Given the description of an element on the screen output the (x, y) to click on. 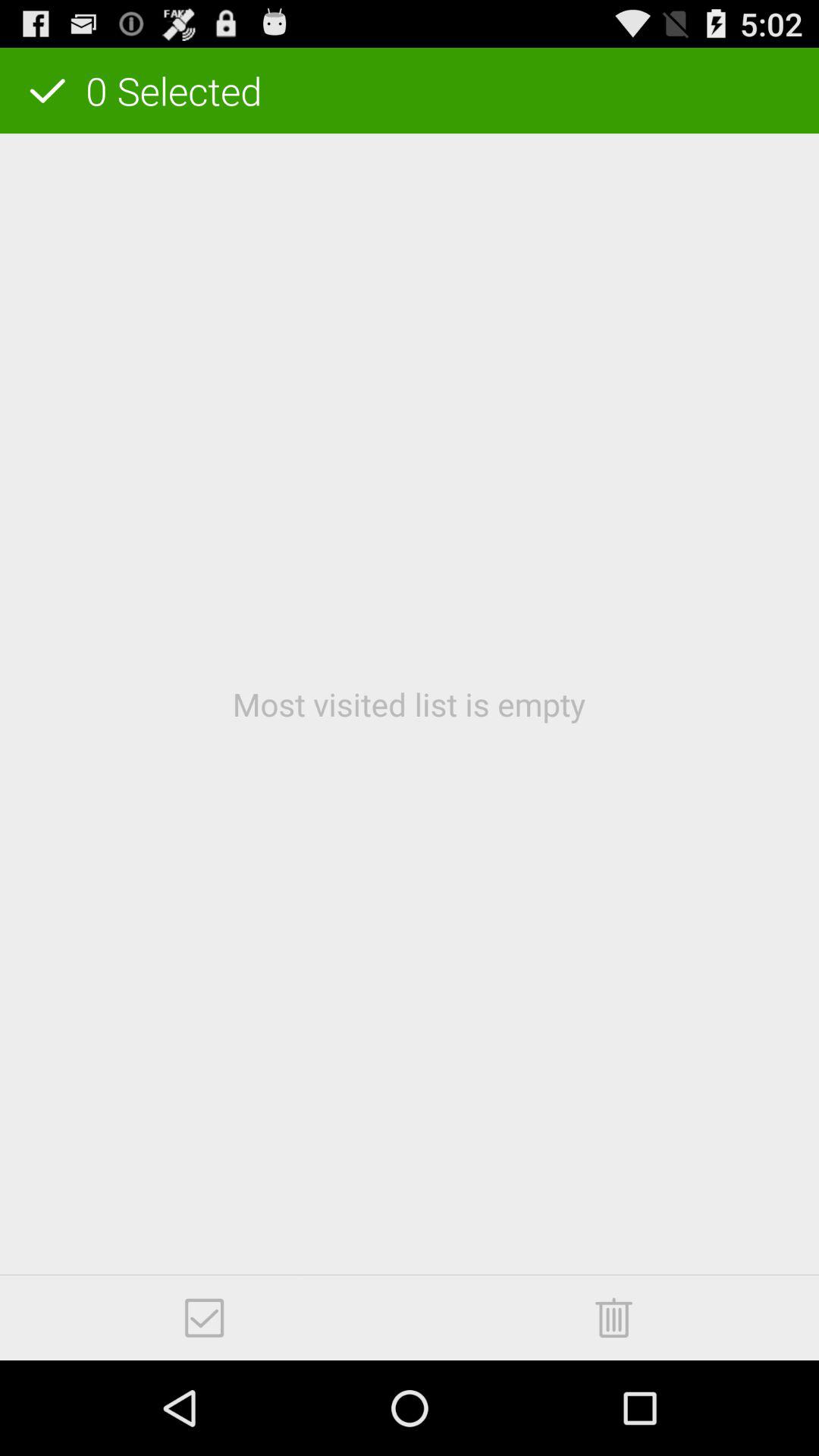
trash (613, 1317)
